Given the description of an element on the screen output the (x, y) to click on. 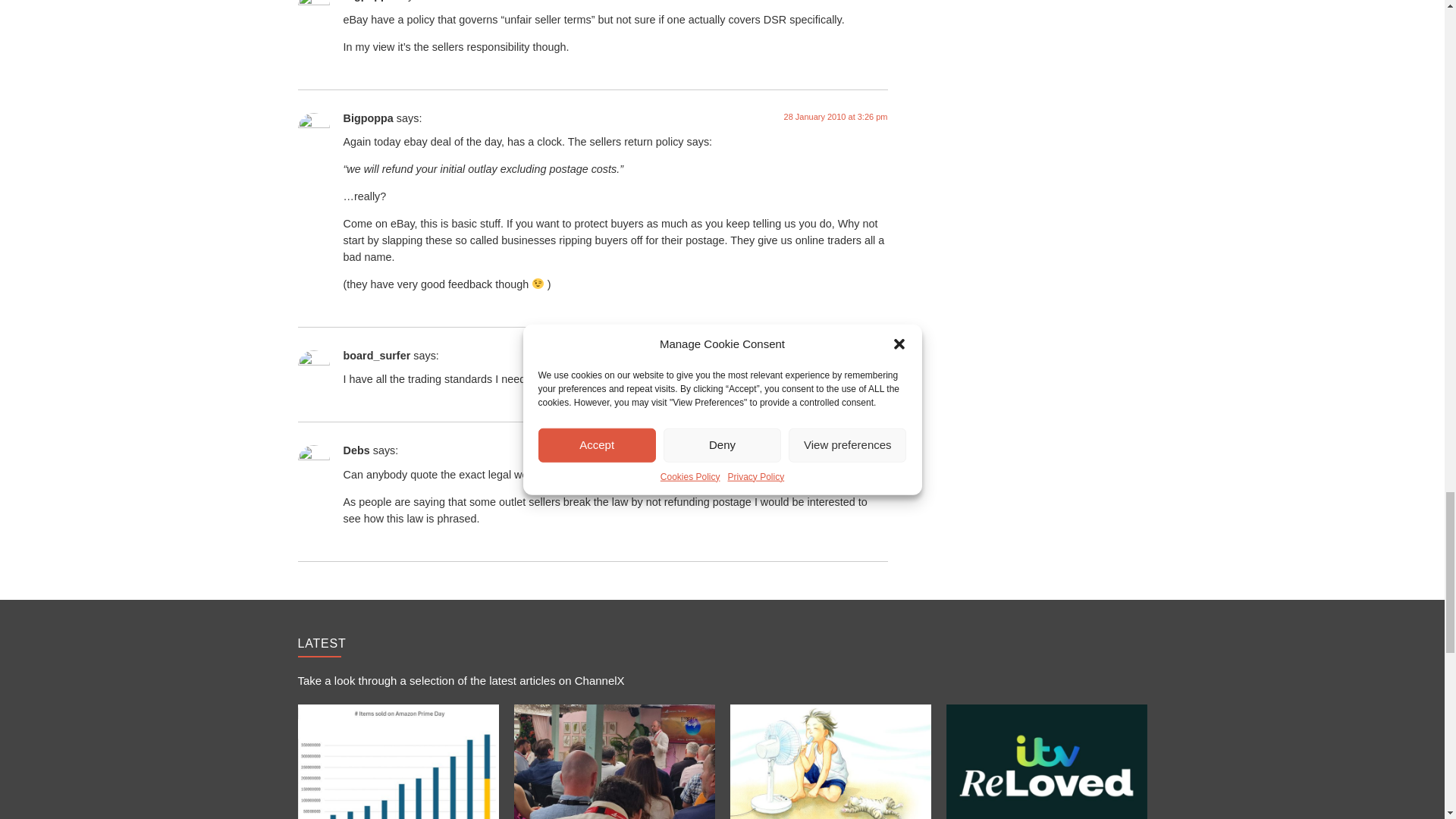
BigCommerce Scores 24 out of 24 Medals in 2024 Paradigm B2B (613, 761)
ITV ReLoved eBay Shop: Bringing Iconic TV Props to Your Home (1046, 761)
Why now is a good time to buy items to keep cool this summer (829, 761)
